Given the description of an element on the screen output the (x, y) to click on. 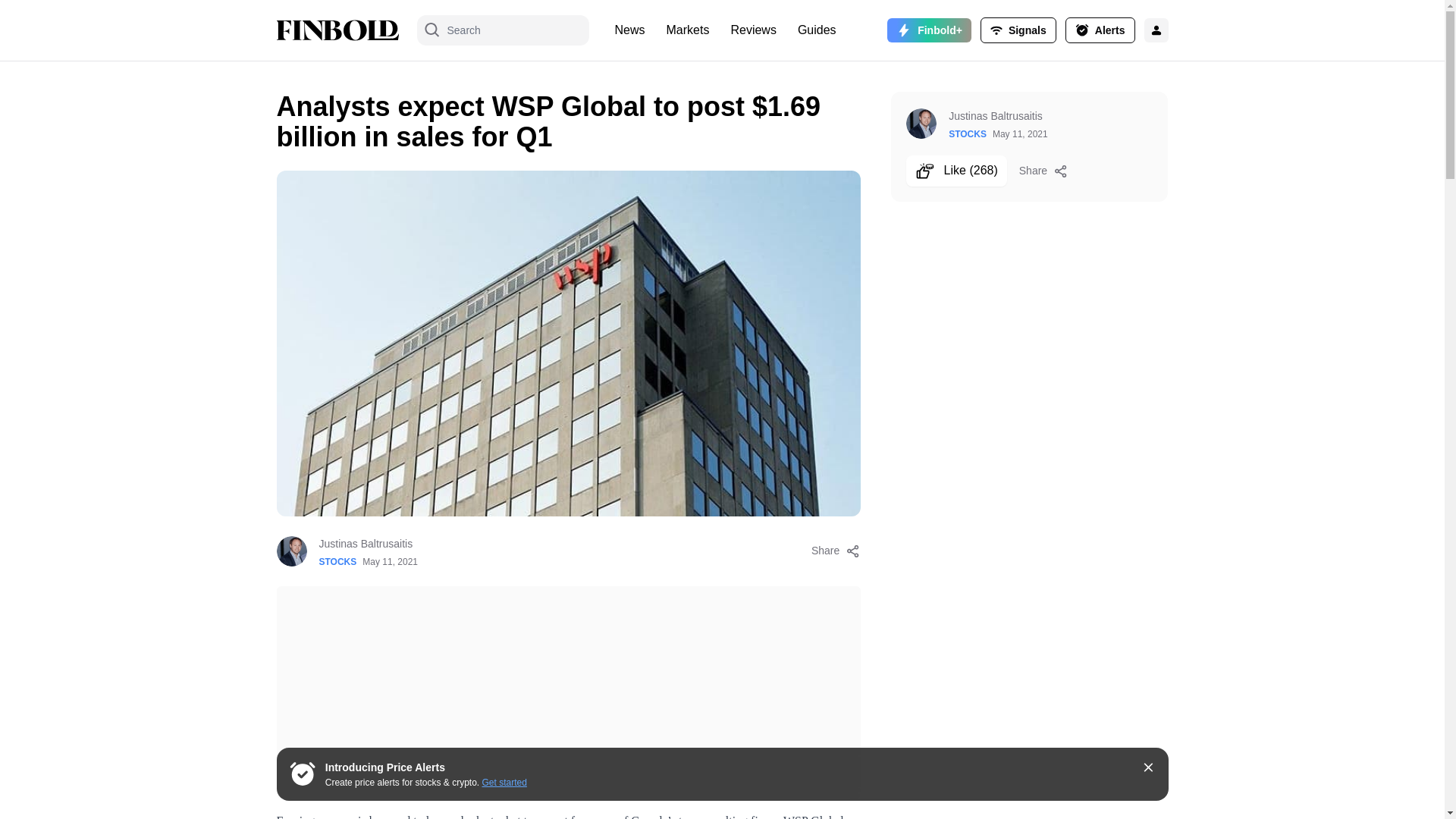
Guides (817, 29)
Account (1100, 30)
Alerts (1100, 30)
Advertisement (568, 692)
Finbold (336, 29)
Markets (688, 29)
Reviews (752, 29)
Signals (1018, 30)
Account (1018, 30)
News (629, 29)
